Given the description of an element on the screen output the (x, y) to click on. 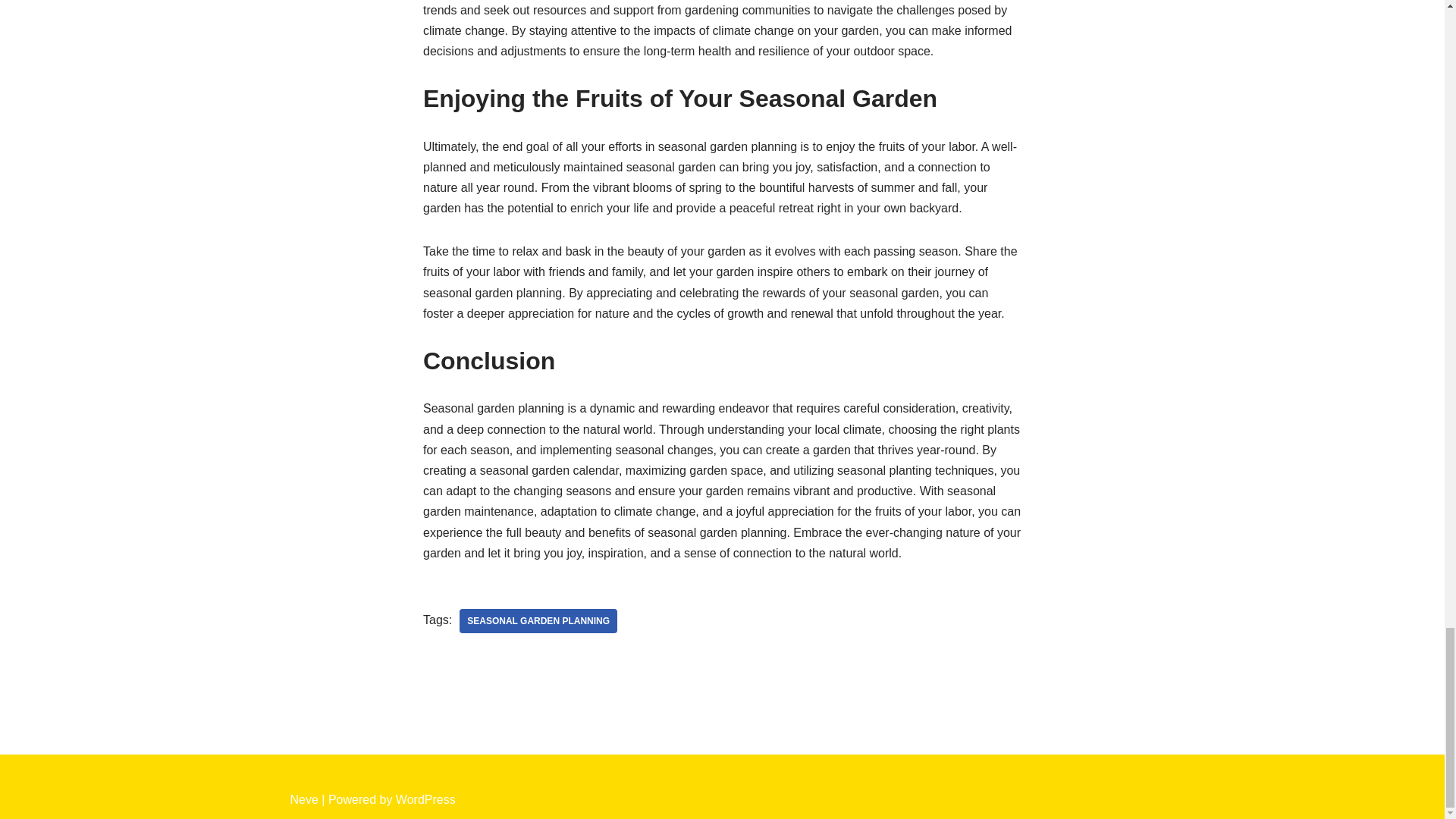
Neve (303, 799)
Seasonal Garden Planning (538, 621)
WordPress (425, 799)
SEASONAL GARDEN PLANNING (538, 621)
